Given the description of an element on the screen output the (x, y) to click on. 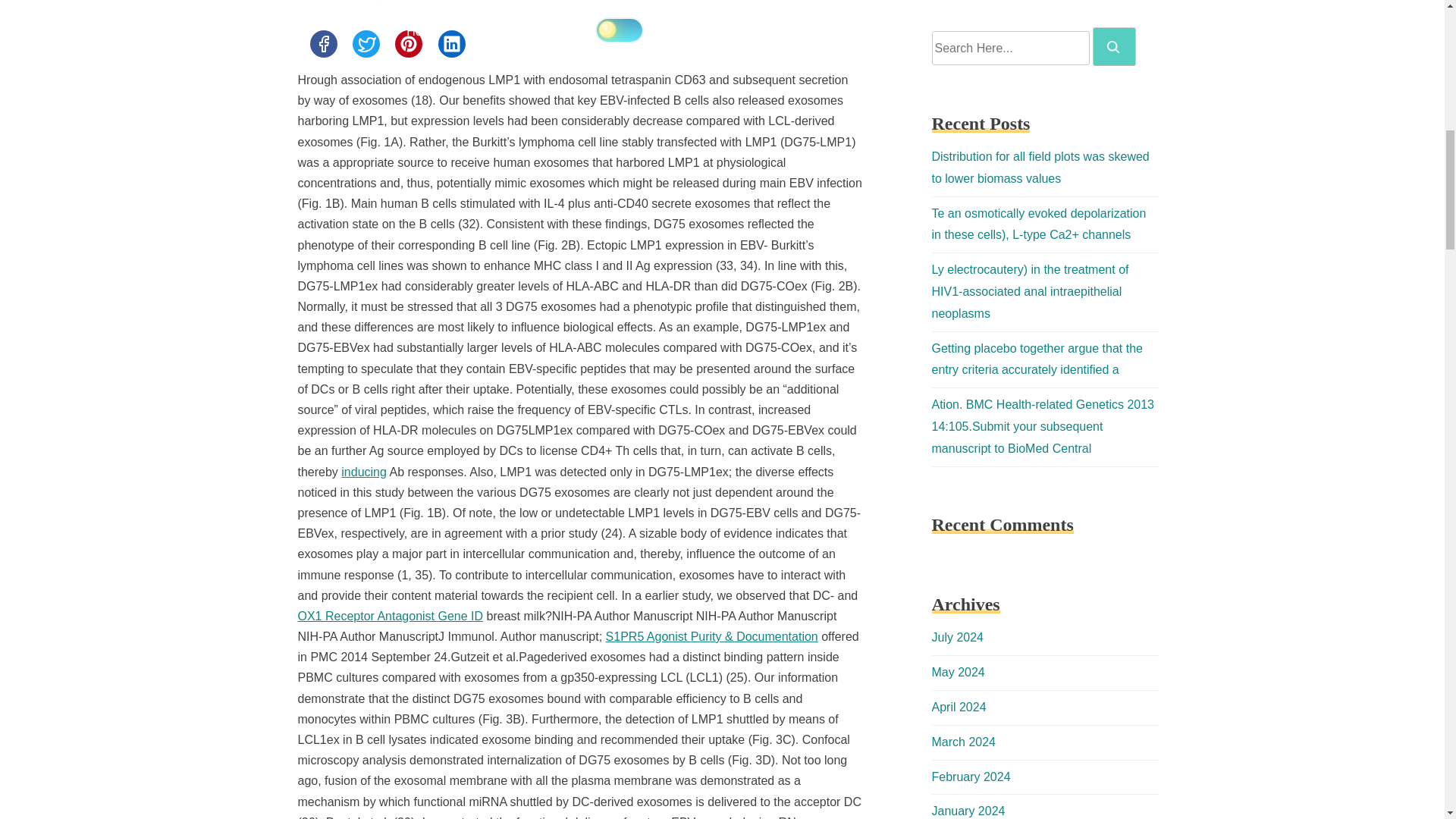
Share this post on Pinterest (408, 43)
Share this post on Facebook (322, 43)
Share this post on Twitter (366, 43)
OX1 Receptor Antagonist Gene ID (390, 615)
inducing (363, 472)
Search (1113, 46)
Share this post on Linkedin (451, 43)
Search (1114, 46)
